Given the description of an element on the screen output the (x, y) to click on. 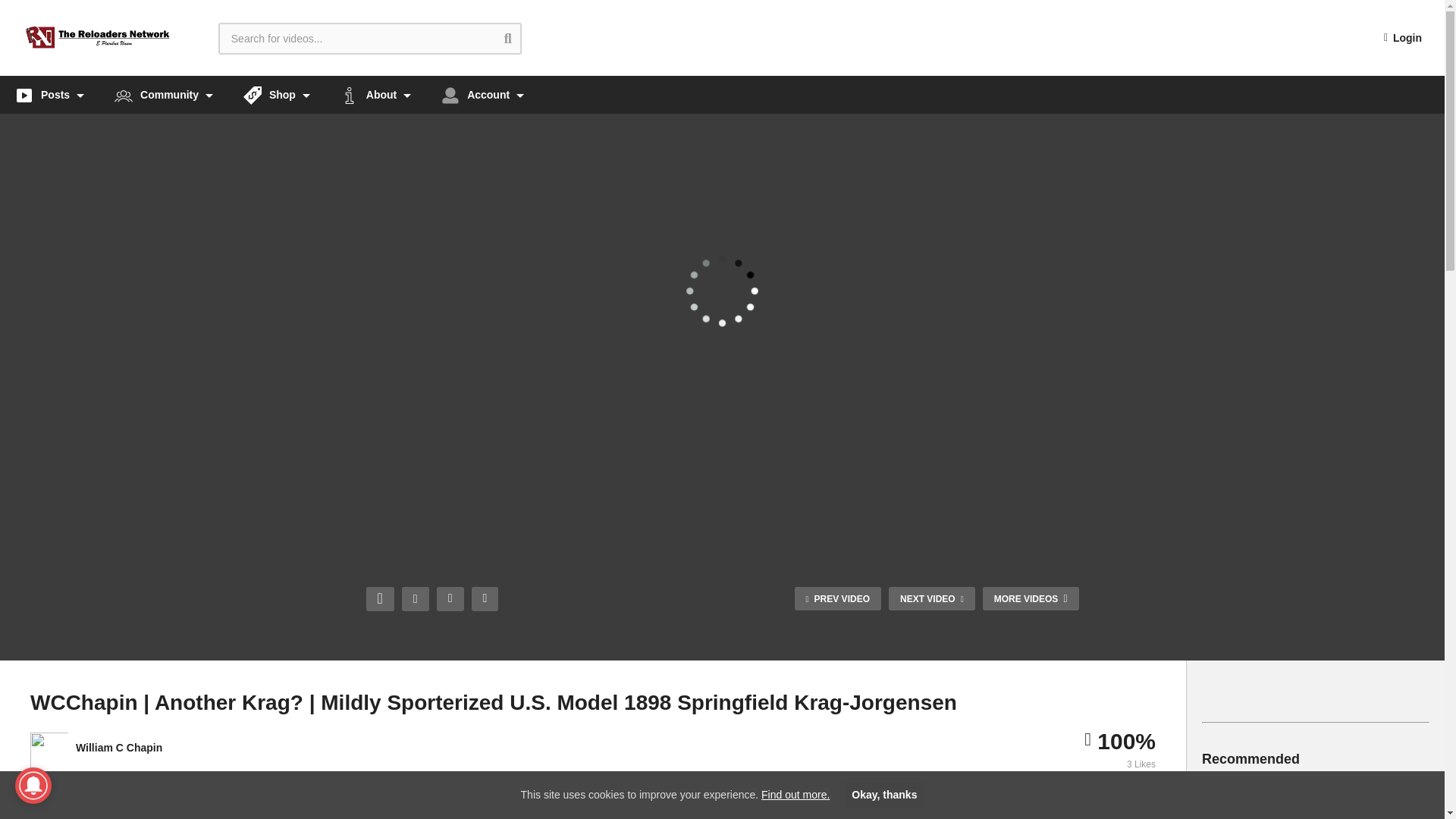
The Reloaders Network (98, 37)
About (375, 94)
SEARCH (519, 37)
Watch Later (485, 598)
SEARCH (519, 37)
 Login (1402, 38)
Community (163, 94)
Shop (276, 94)
Posts (49, 94)
